Given the description of an element on the screen output the (x, y) to click on. 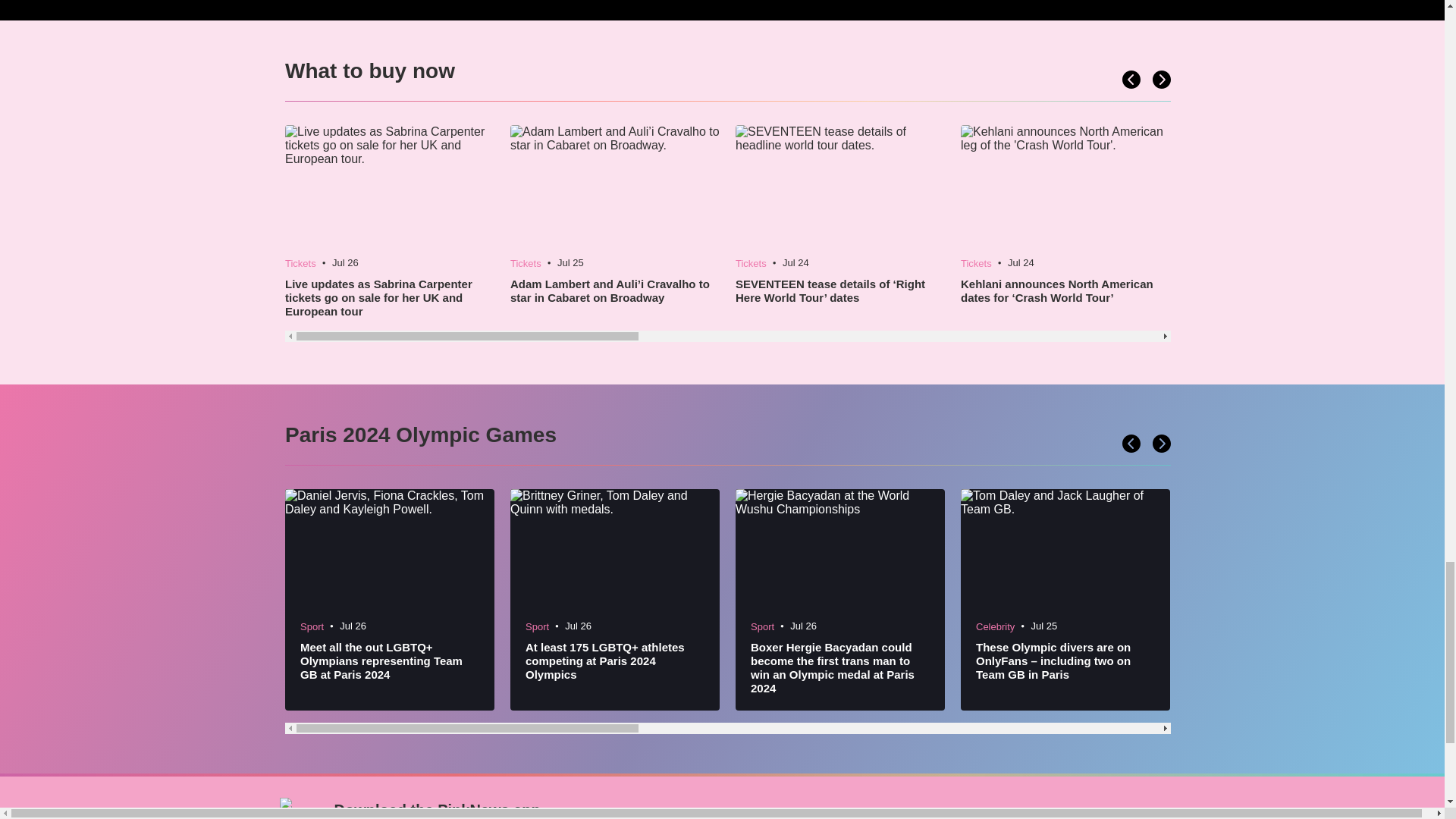
Download the PinkNews app on the Apple App Store (1006, 816)
Download the PinkNews app on Google Play (1115, 816)
